Given the description of an element on the screen output the (x, y) to click on. 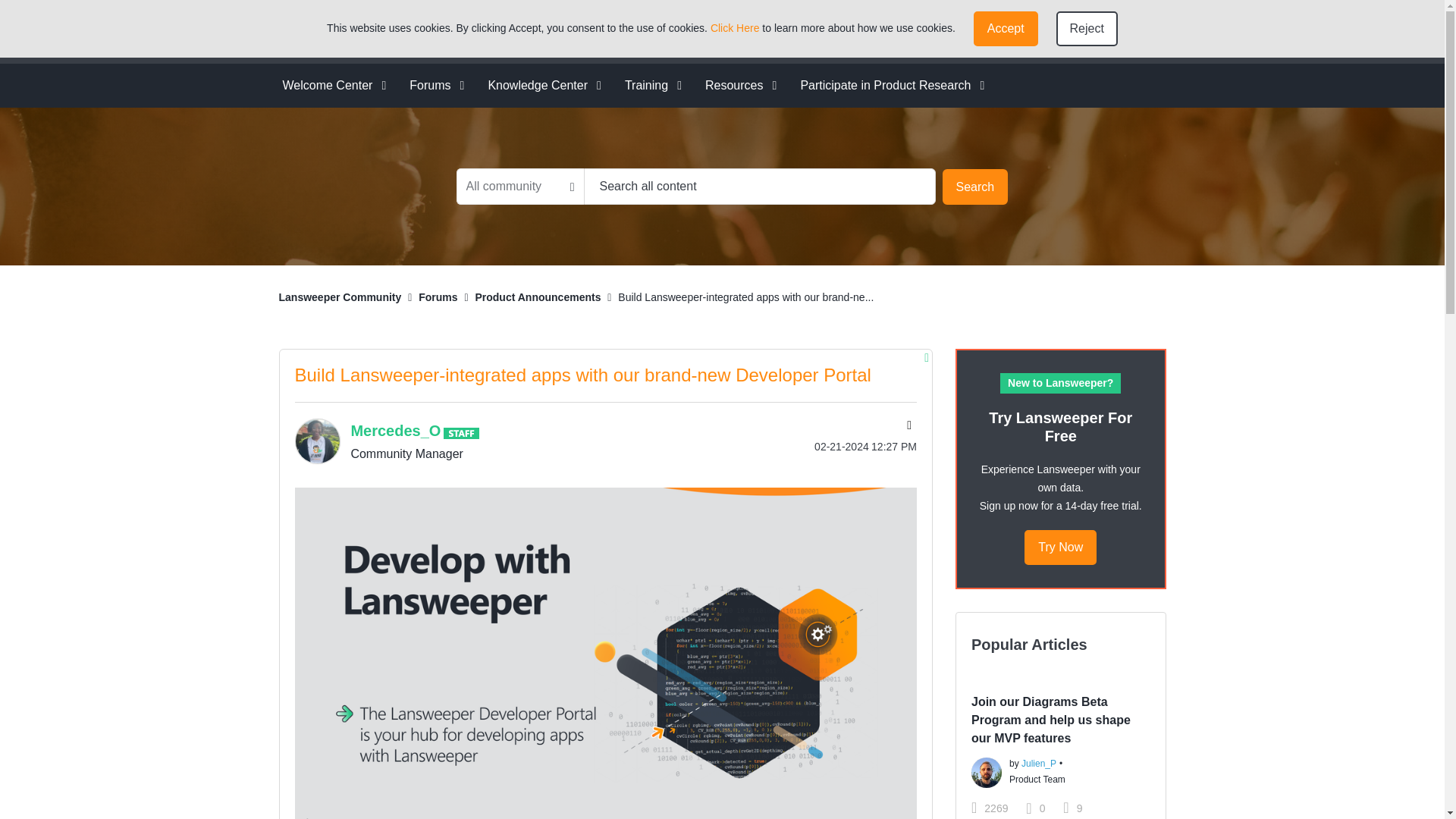
Search Granularity (520, 186)
Community Manager (461, 432)
Developer Portal (895, 31)
Search (974, 186)
Knowledge Center (539, 85)
Show option menu (907, 427)
Accept (1006, 28)
Posted on (839, 446)
Search (759, 186)
Click Here (735, 28)
